Given the description of an element on the screen output the (x, y) to click on. 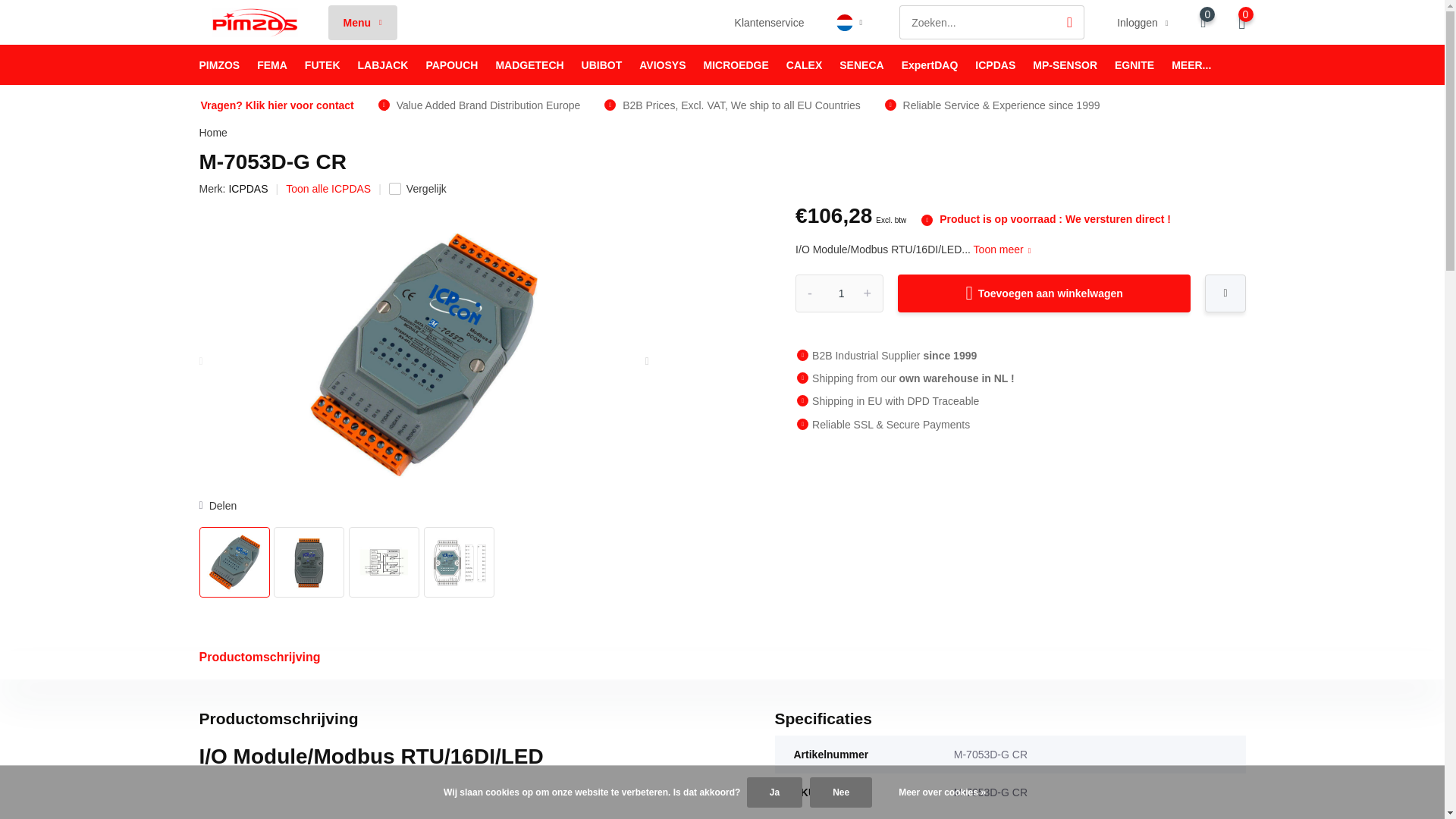
1 (839, 293)
Inloggen (1141, 22)
PIMZOS (219, 65)
PIMZOS (219, 65)
Klantenservice (770, 22)
